Given the description of an element on the screen output the (x, y) to click on. 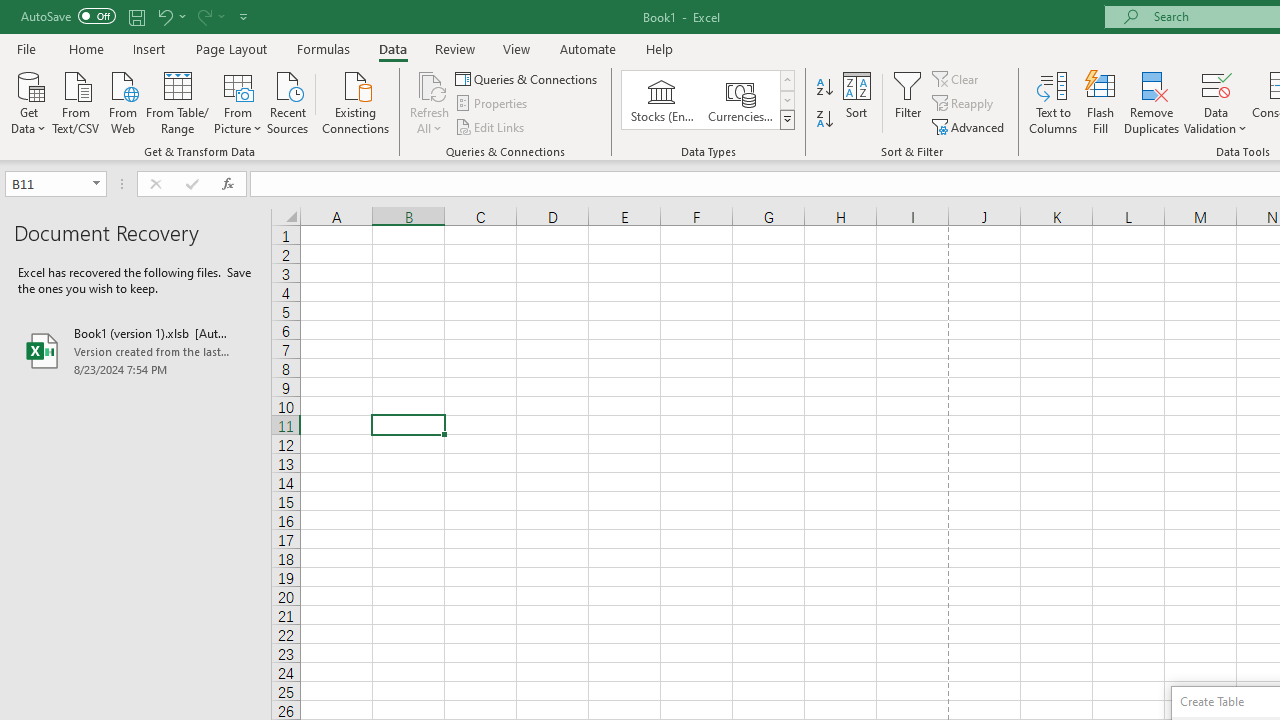
Edit Links (491, 126)
Advanced... (970, 126)
Text to Columns... (1053, 102)
Get Data (28, 101)
From Web (122, 101)
Remove Duplicates (1151, 102)
Sort... (856, 102)
